Given the description of an element on the screen output the (x, y) to click on. 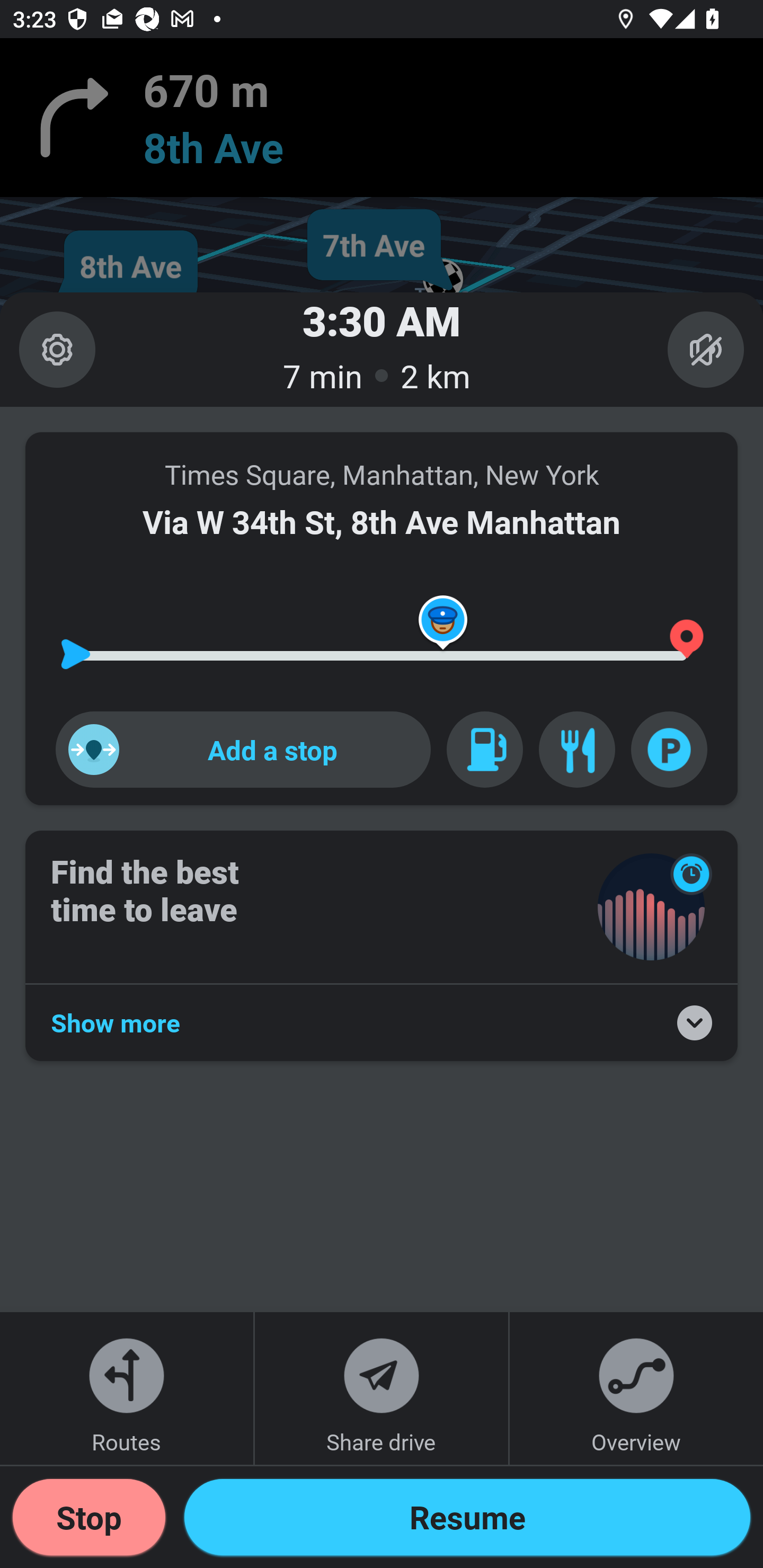
670 m 8th Ave (381, 117)
3:30 AM 7 min 2 km (381, 348)
Add a stop (243, 749)
Find the best time to leave Show more (381, 946)
Routes (126, 1388)
Share drive (381, 1388)
Overview (636, 1388)
Stop (88, 1516)
ETA_DRAWER_GO_BUTTON Resume (466, 1516)
